Given the description of an element on the screen output the (x, y) to click on. 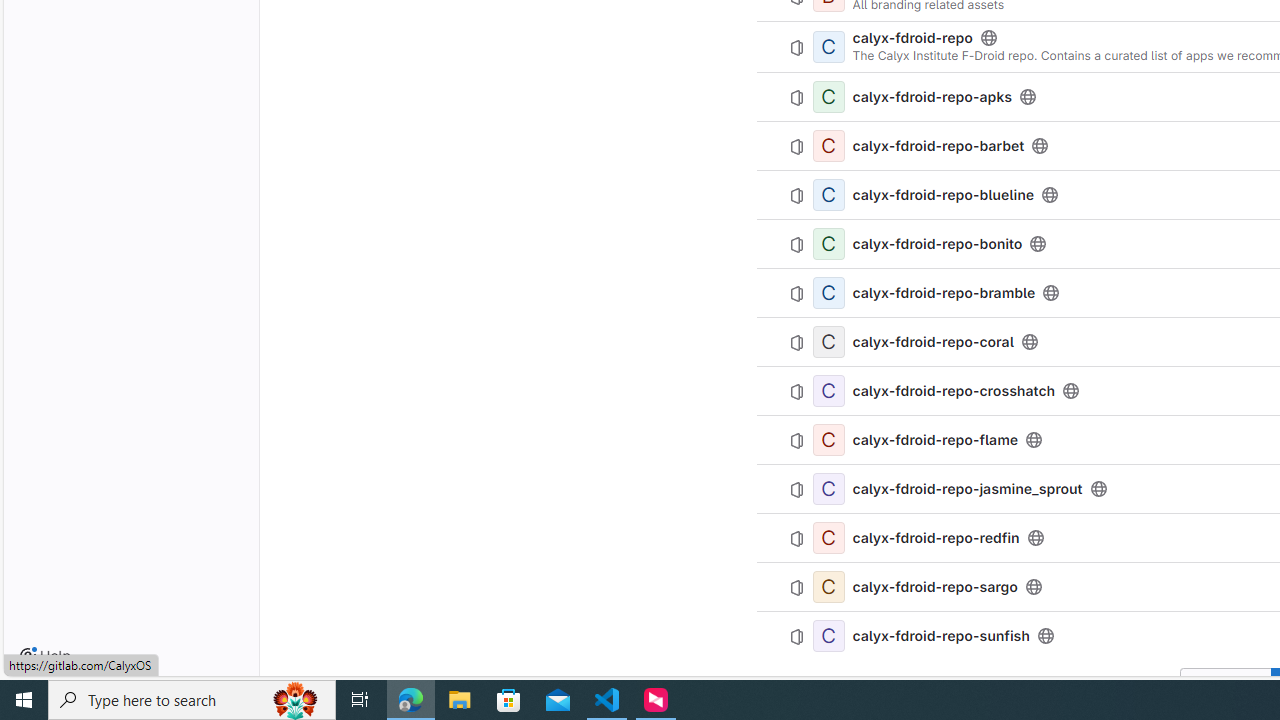
calyx-fdroid-repo-jasmine_sprout (967, 488)
calyx-fdroid-repo-crosshatch (954, 390)
calyx-fdroid-repo-blueline (943, 195)
calyx-fdroid-repo-bonito (937, 243)
calyx-fdroid-repo-coral (932, 341)
calyx-fdroid-repo-bramble (943, 292)
calyx-fdroid-repo-sunfish (941, 635)
calyx-fdroid-repo-barbet (938, 146)
calyx-fdroid-repo-apks (932, 97)
calyx-fdroid-repo-sargo (934, 586)
calyx-fdroid-repo (912, 38)
calyx-fdroid-repo-flame (935, 439)
calyx-fdroid-repo-redfin (936, 537)
